Given the description of an element on the screen output the (x, y) to click on. 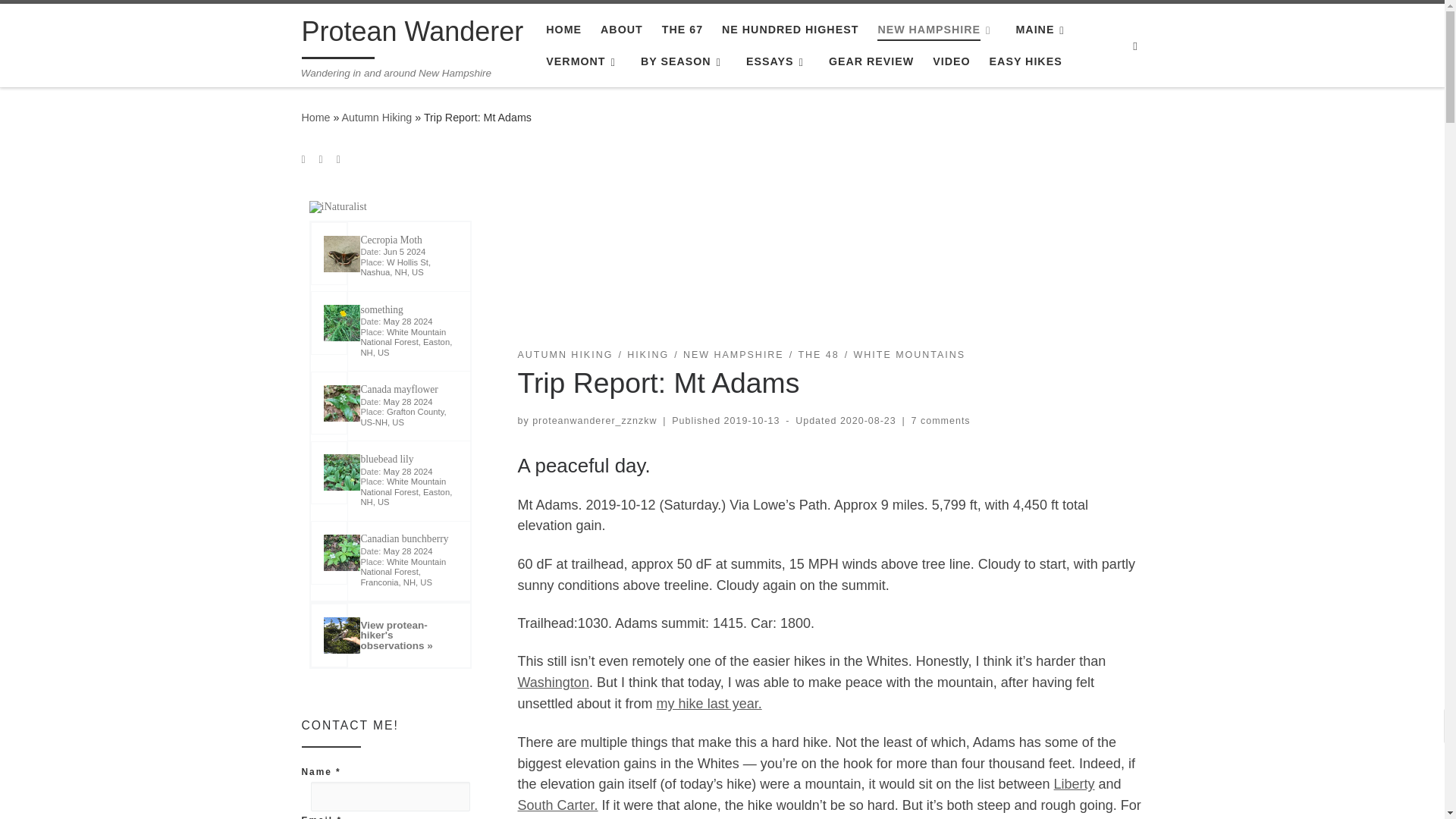
VIDEO (951, 60)
NE HUNDRED HIGHEST (790, 29)
View all posts in Autumn Hiking (564, 355)
NEW HAMPSHIRE (936, 29)
Skip to content (60, 20)
View all posts in White Mountains (909, 355)
BY SEASON (684, 60)
04:29 (751, 420)
04:29 (868, 420)
ESSAYS (777, 60)
EASY HIKES (1025, 60)
HOME (563, 29)
THE 67 (681, 29)
7 Comments on Trip Report: Mt Adams (941, 420)
View all posts in The 48 (817, 355)
